Given the description of an element on the screen output the (x, y) to click on. 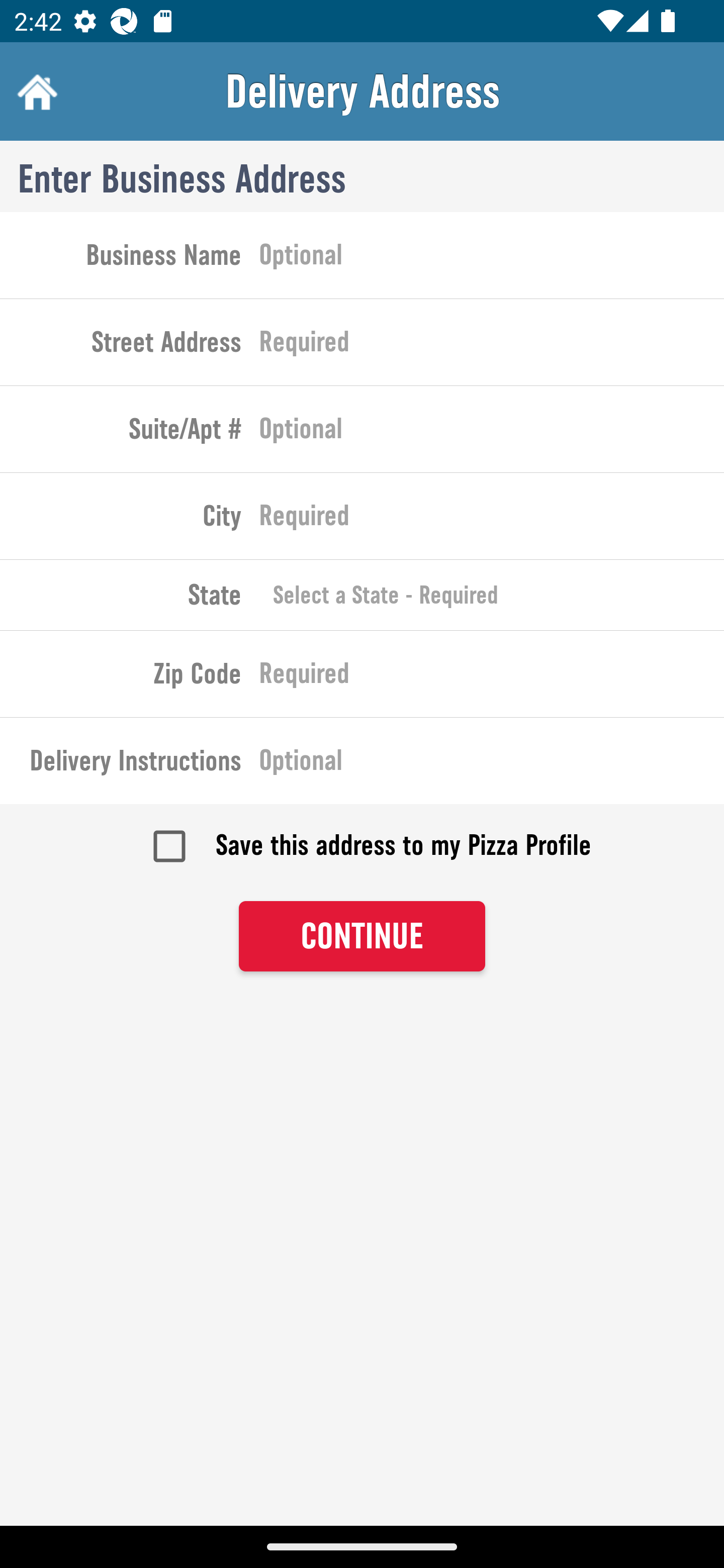
Home (35, 91)
Optional (491, 258)
Required (491, 345)
Optional (491, 432)
Required (491, 519)
Select a State - Required (491, 594)
Required (491, 677)
Optional (491, 764)
CONTINUE (361, 936)
